Given the description of an element on the screen output the (x, y) to click on. 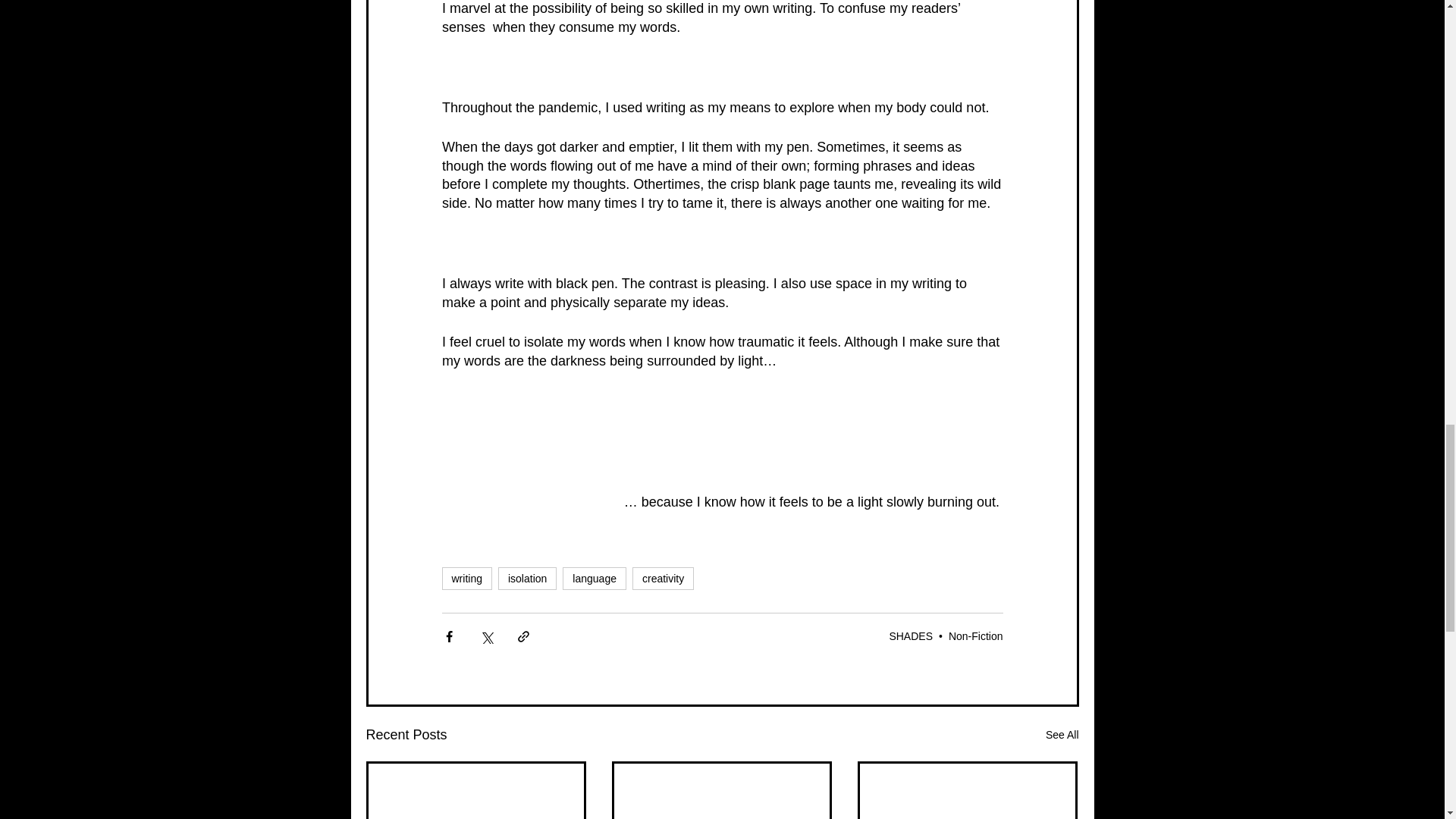
language (594, 578)
SHADES (910, 635)
writing (466, 578)
creativity (662, 578)
isolation (526, 578)
